Given the description of an element on the screen output the (x, y) to click on. 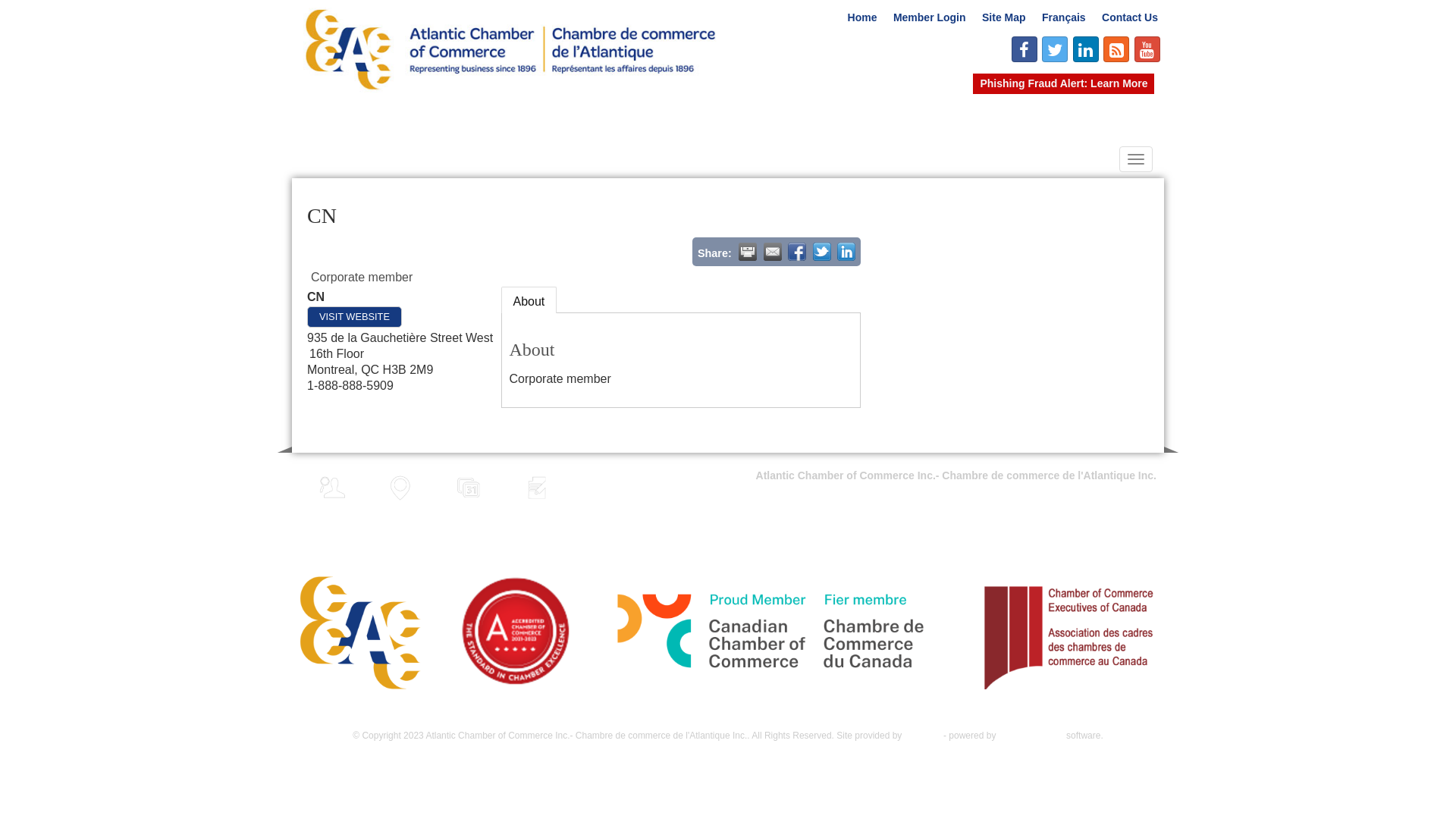
 PO Box 2291
Windsor, NS B0N 2T0 Element type: text (1104, 505)
Icon Link Element type: hover (1116, 49)
  Element type: text (747, 251)
Site Map Element type: text (1003, 17)
Icon Link Element type: hover (1147, 49)
Share on Facebook Element type: hover (796, 251)
Contact Element type: hover (536, 487)
Contact Us Element type: text (1129, 17)
Icon Link Element type: hover (1024, 49)
Directory Element type: text (331, 494)
VISIT WEBSITE Element type: text (354, 317)
  Element type: text (796, 251)
  Element type: text (772, 251)
 Email Us Element type: text (1128, 558)
Atlantic Chamber of Commerce Privacy Policy Element type: text (407, 712)
Toggle navigation Element type: text (1135, 159)
  Element type: text (846, 251)
Print this page Element type: hover (747, 251)
Member Login Element type: text (928, 17)
Map Element type: text (400, 494)
About Element type: text (528, 299)
  902.707.4440 Element type: text (1115, 536)
Contact Element type: text (537, 494)
Directory Element type: hover (332, 487)
MicroNet Element type: text (922, 735)
ChamberMaster Element type: text (1030, 735)
Home Element type: text (862, 17)
Map Element type: hover (400, 487)
Share by Email Element type: hover (772, 251)
Calendar Element type: hover (468, 487)
Share on LinkedIn Element type: hover (846, 251)
  Element type: text (821, 251)
Icon Link Element type: hover (1085, 49)
Calendar Element type: text (469, 494)
Share on Twitter Element type: hover (821, 251)
Phishing Fraud Alert: Learn More Element type: text (1063, 83)
Icon Link Element type: hover (1054, 49)
